Given the description of an element on the screen output the (x, y) to click on. 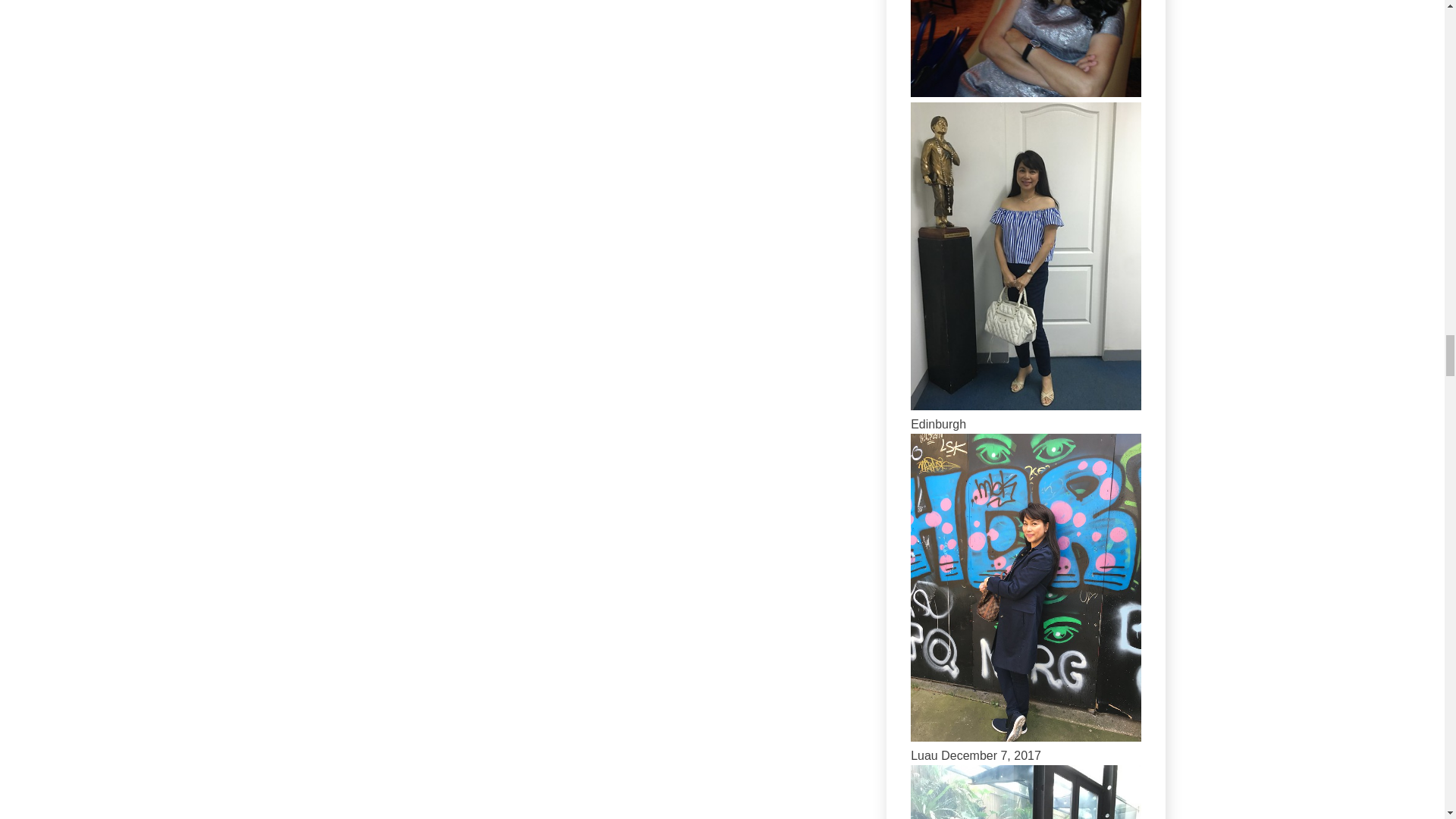
edinburgh 043 (1026, 737)
OMB at the office (1026, 405)
